Given the description of an element on the screen output the (x, y) to click on. 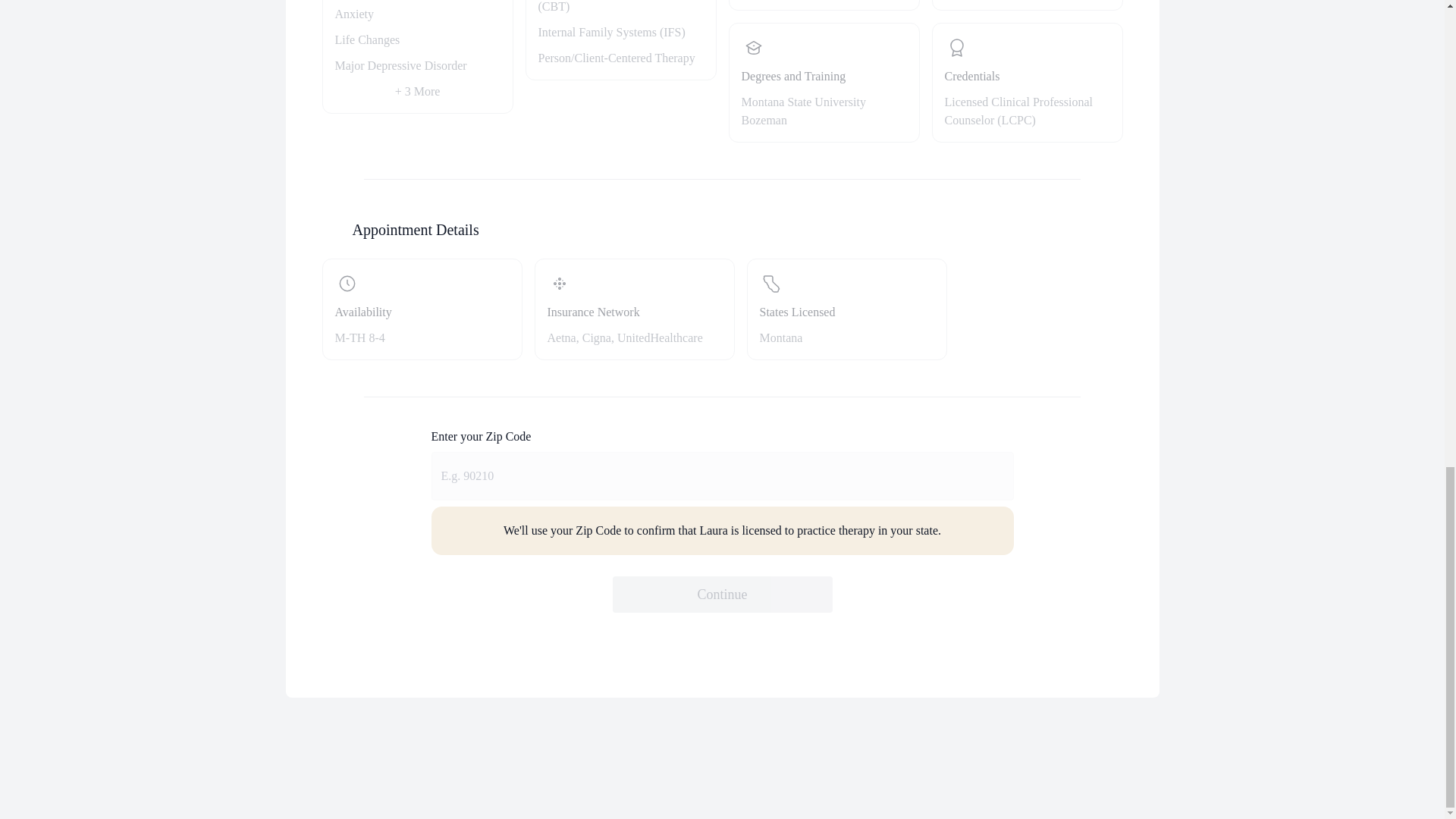
Continue (824, 82)
